Given the description of an element on the screen output the (x, y) to click on. 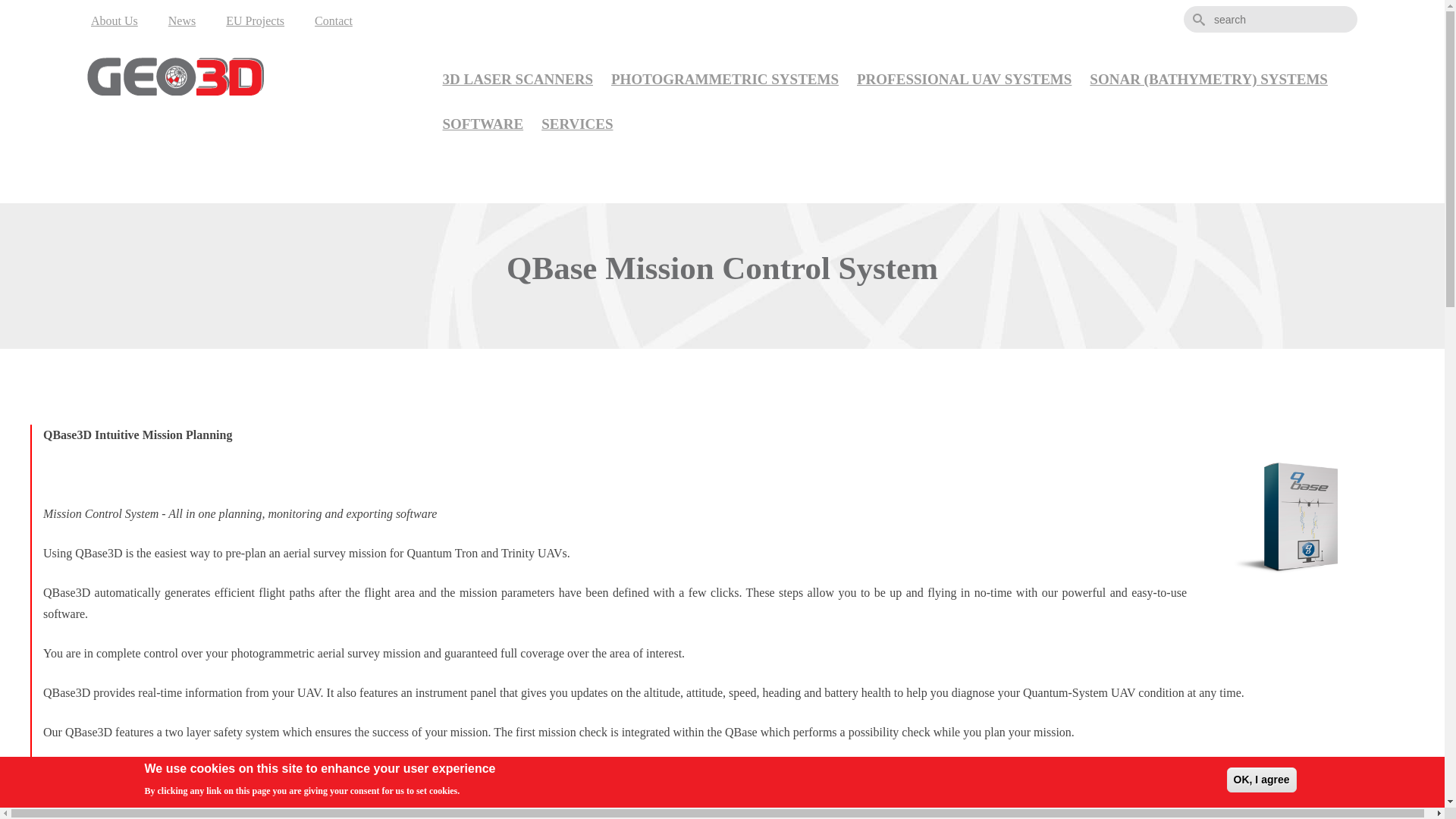
SERVICES (576, 123)
PHOTOGRAMMETRIC SYSTEMS (724, 79)
Contact (333, 21)
News (181, 21)
SOFTWARE (482, 123)
Home (231, 78)
Search (1223, 22)
PROFESSIONAL UAV SYSTEMS (963, 79)
Enter the terms you wish to search for. (1269, 18)
Search (1223, 22)
EU Projects (255, 21)
3D LASER SCANNERS (517, 79)
About Us (113, 21)
